Given the description of an element on the screen output the (x, y) to click on. 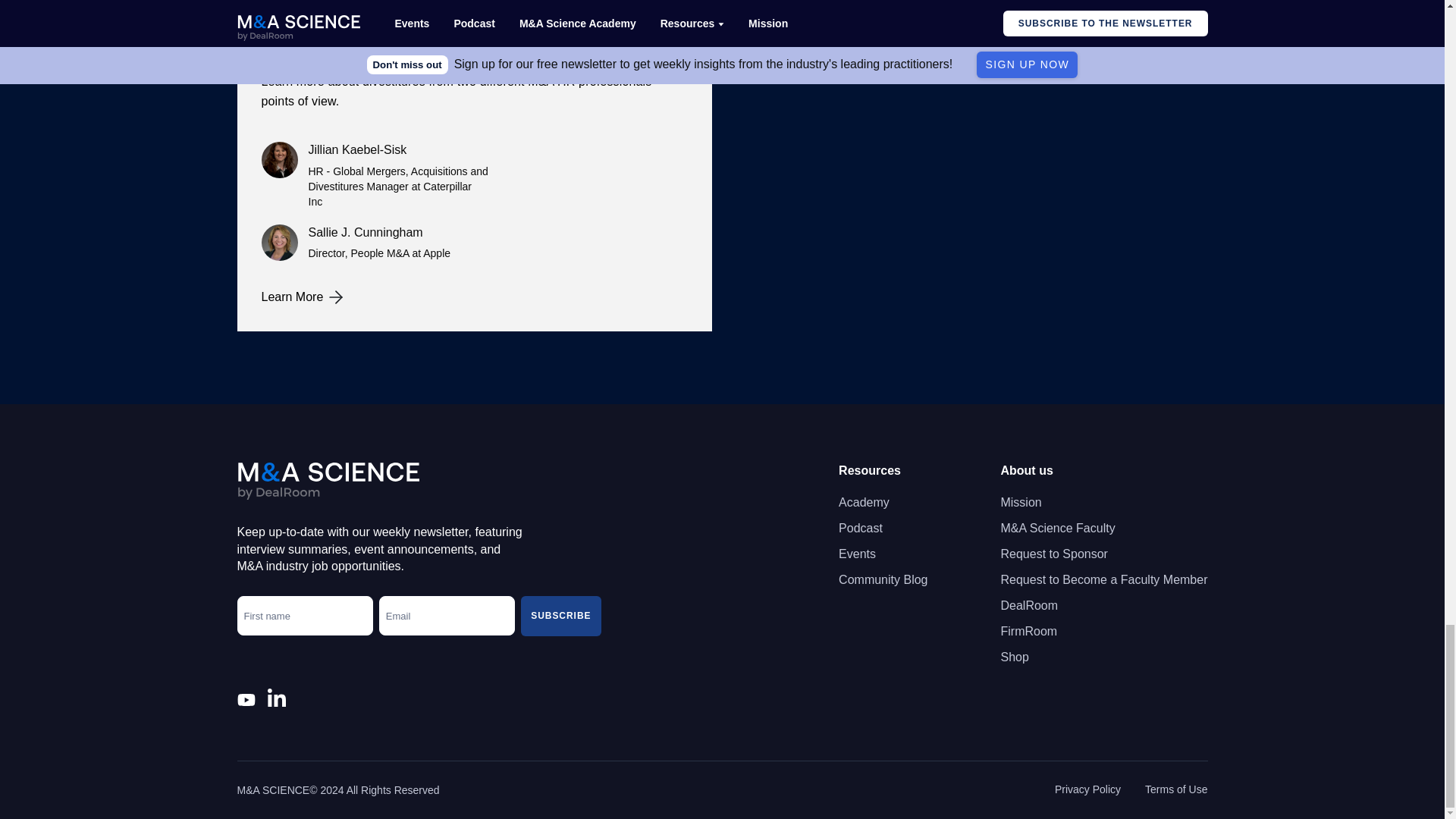
Subscribe (560, 615)
Podcast (860, 527)
Community Blog (882, 579)
Shop (1013, 657)
Request to Sponsor (1053, 553)
DealRoom (1029, 605)
Learn More (473, 297)
FirmRoom (1028, 630)
Events (857, 553)
Subscribe (560, 615)
